Given the description of an element on the screen output the (x, y) to click on. 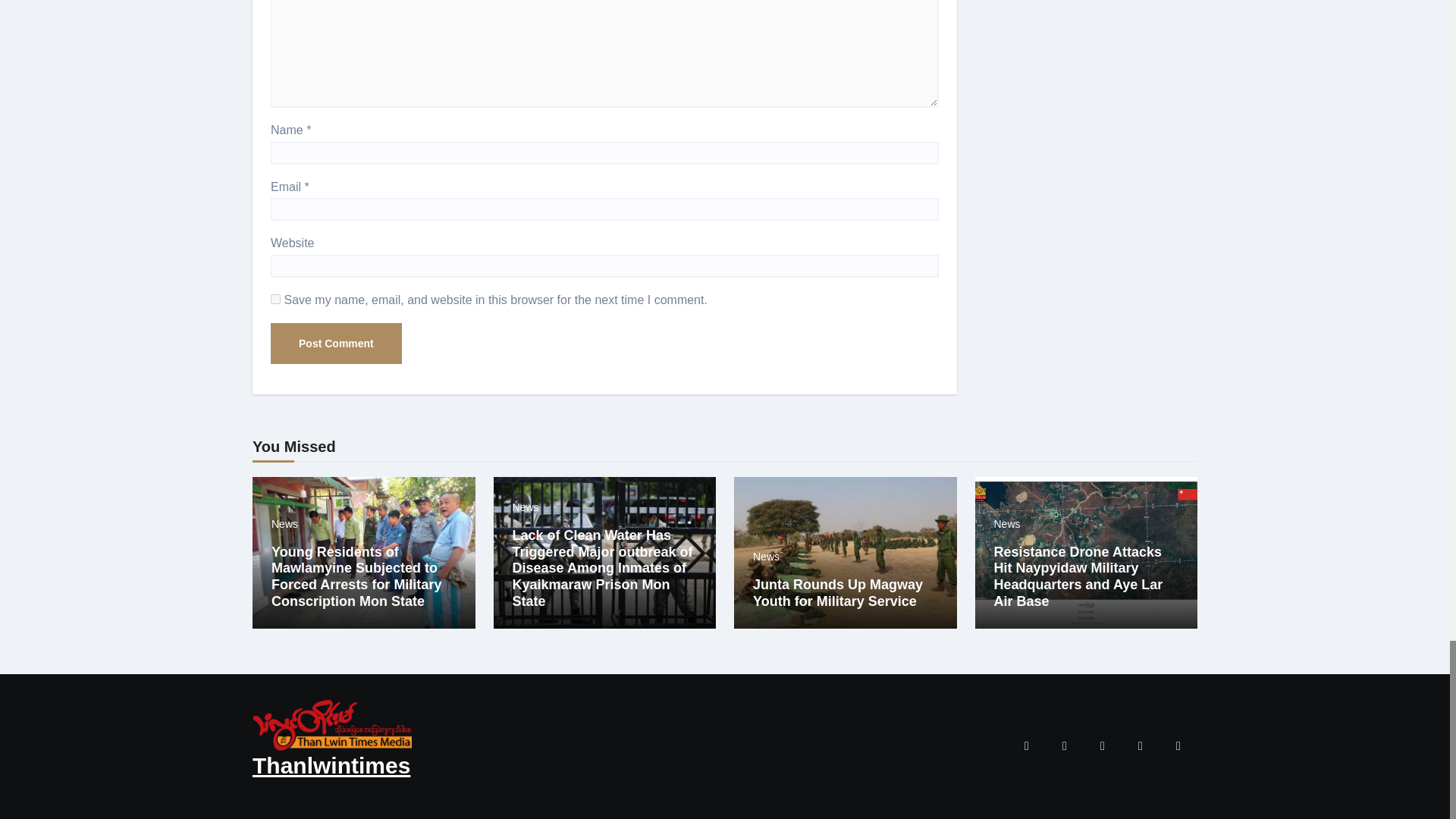
Post Comment (335, 342)
yes (275, 298)
